Given the description of an element on the screen output the (x, y) to click on. 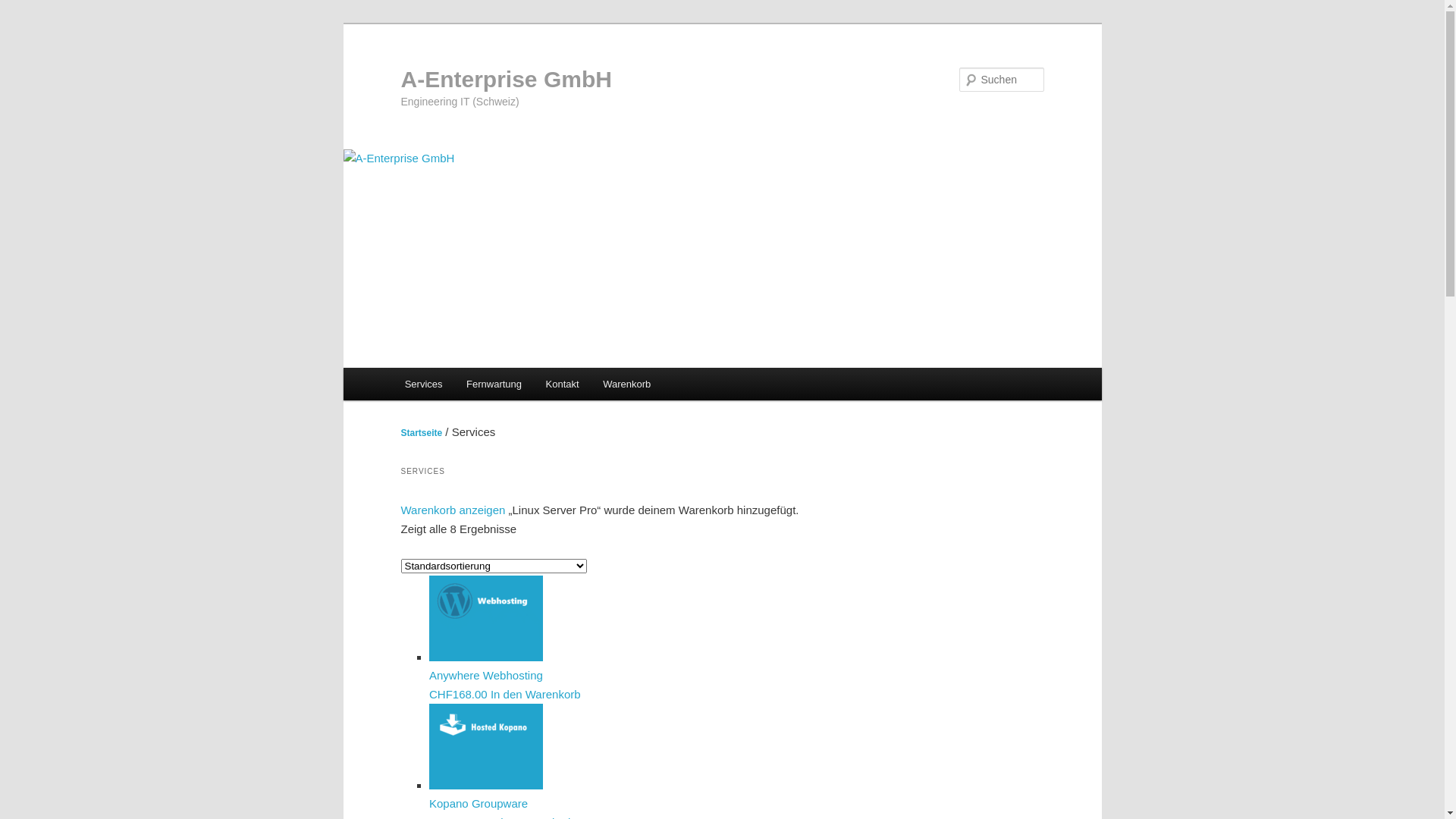
In den Warenkorb Element type: text (535, 693)
Fernwartung Element type: text (493, 383)
Anywhere Webhosting
CHF168.00 Element type: text (636, 675)
Warenkorb anzeigen Element type: text (452, 509)
Suchen Element type: text (25, 8)
A-Enterprise GmbH Element type: text (505, 78)
Services Element type: text (423, 383)
Zum Inhalt wechseln Element type: text (22, 22)
Kontakt Element type: text (562, 383)
Startseite Element type: text (421, 432)
Warenkorb Element type: text (626, 383)
